Given the description of an element on the screen output the (x, y) to click on. 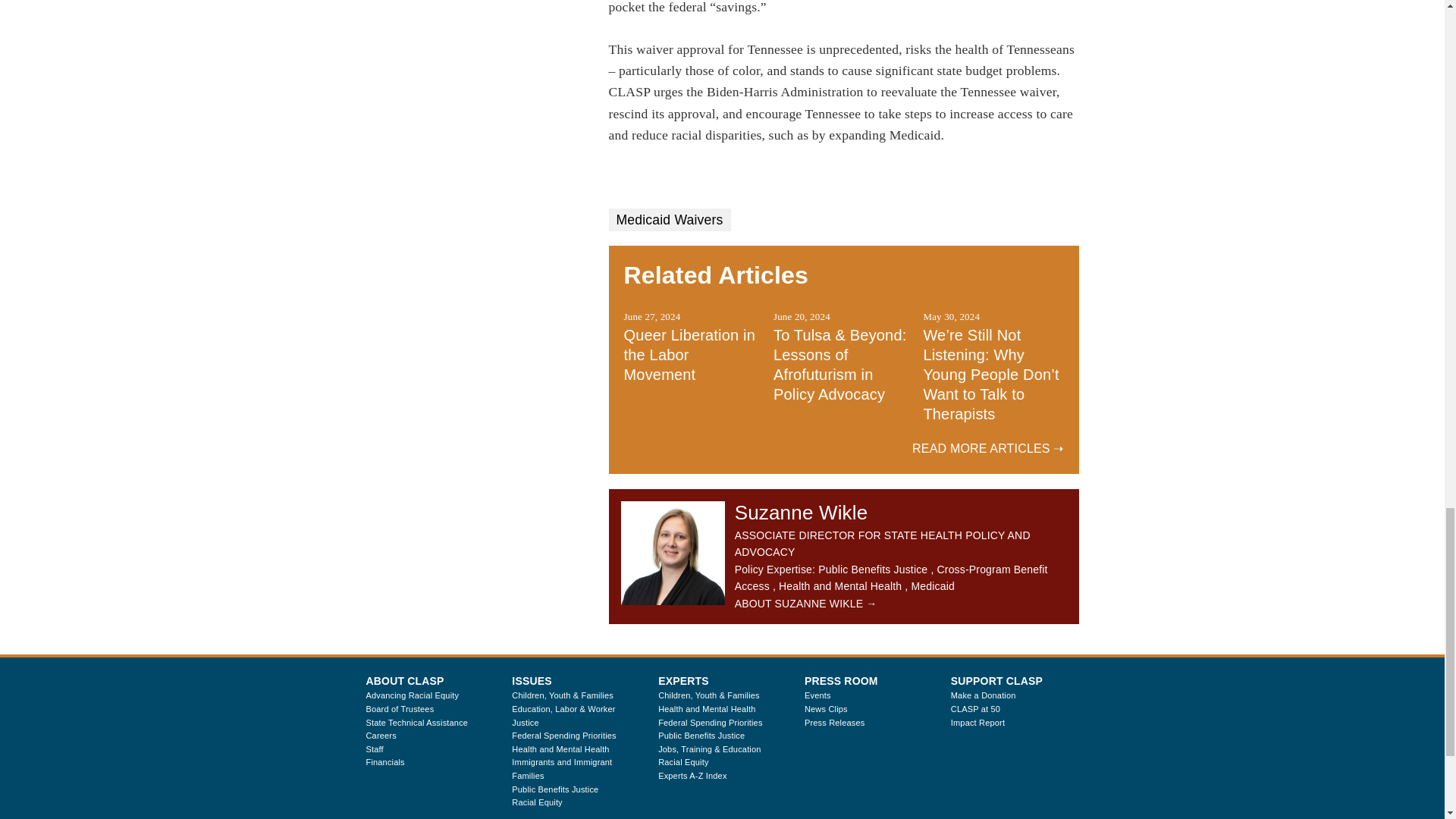
Suzanne Wikle (673, 553)
